Given the description of an element on the screen output the (x, y) to click on. 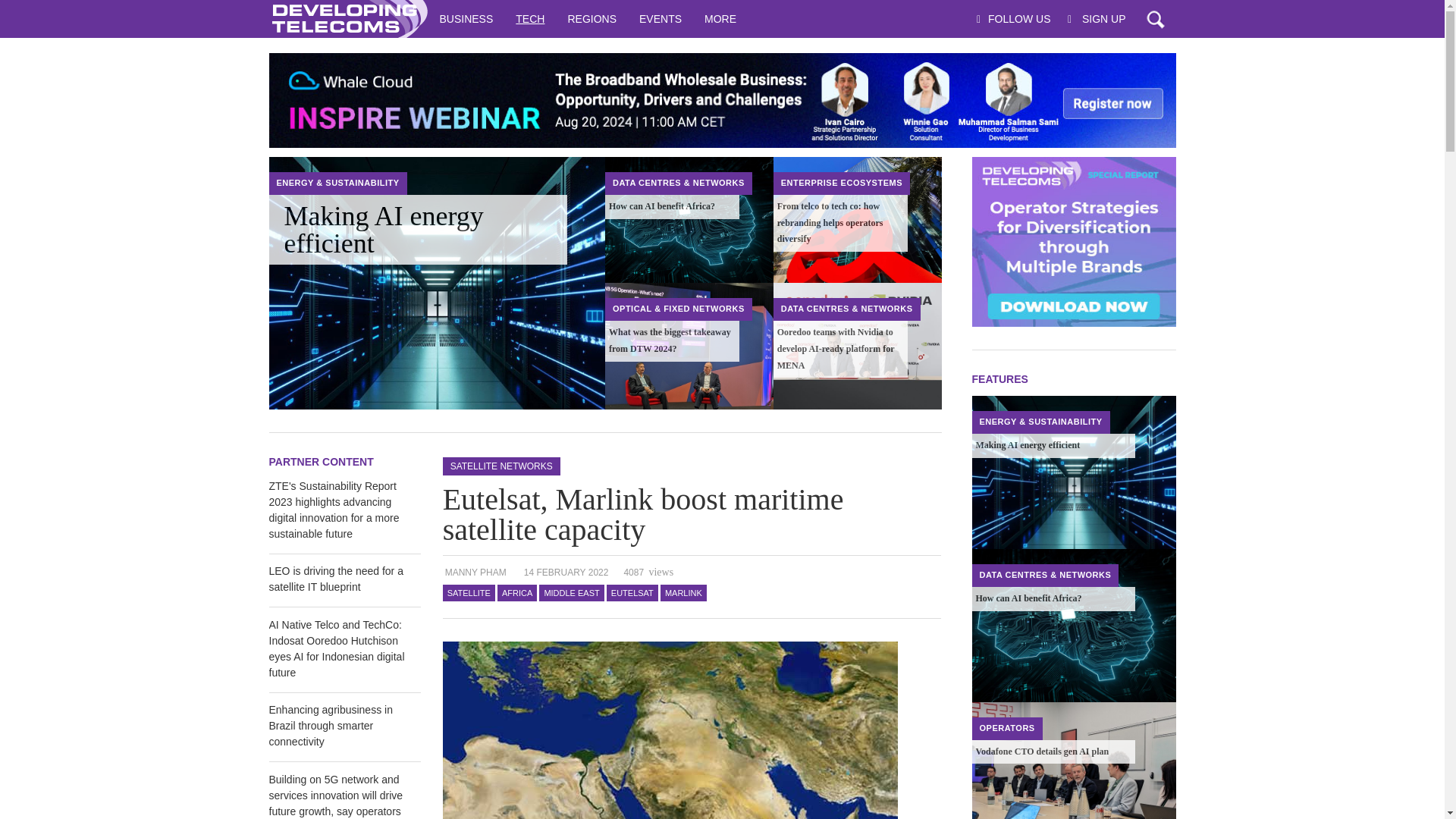
Enterprise Ecosystems (841, 182)
Click to follow link (720, 100)
REGIONS (591, 18)
TECH (529, 18)
BUSINESS (465, 18)
Developing Telecoms (347, 18)
